Given the description of an element on the screen output the (x, y) to click on. 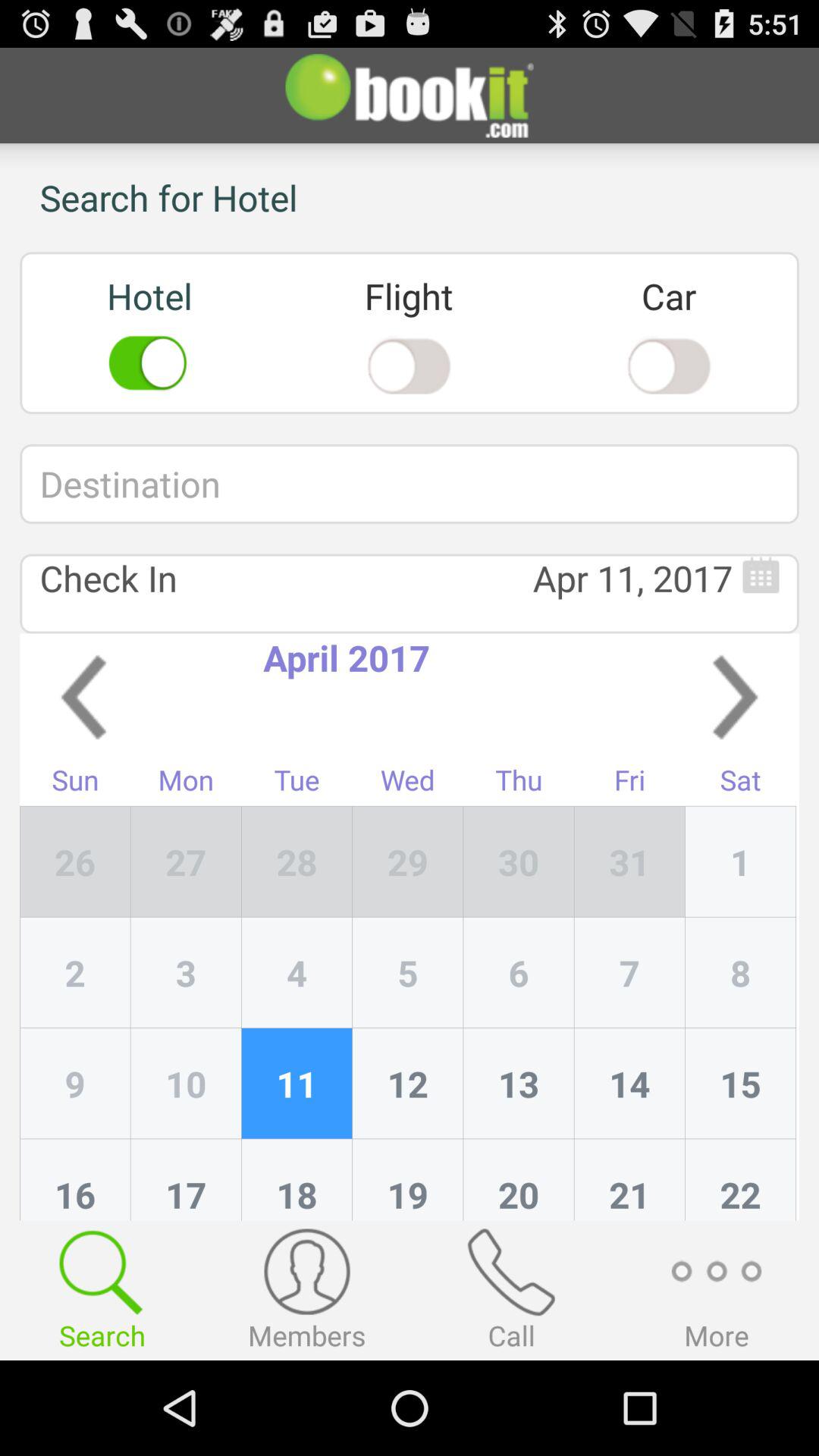
turn off the icon above the 3 item (296, 861)
